Given the description of an element on the screen output the (x, y) to click on. 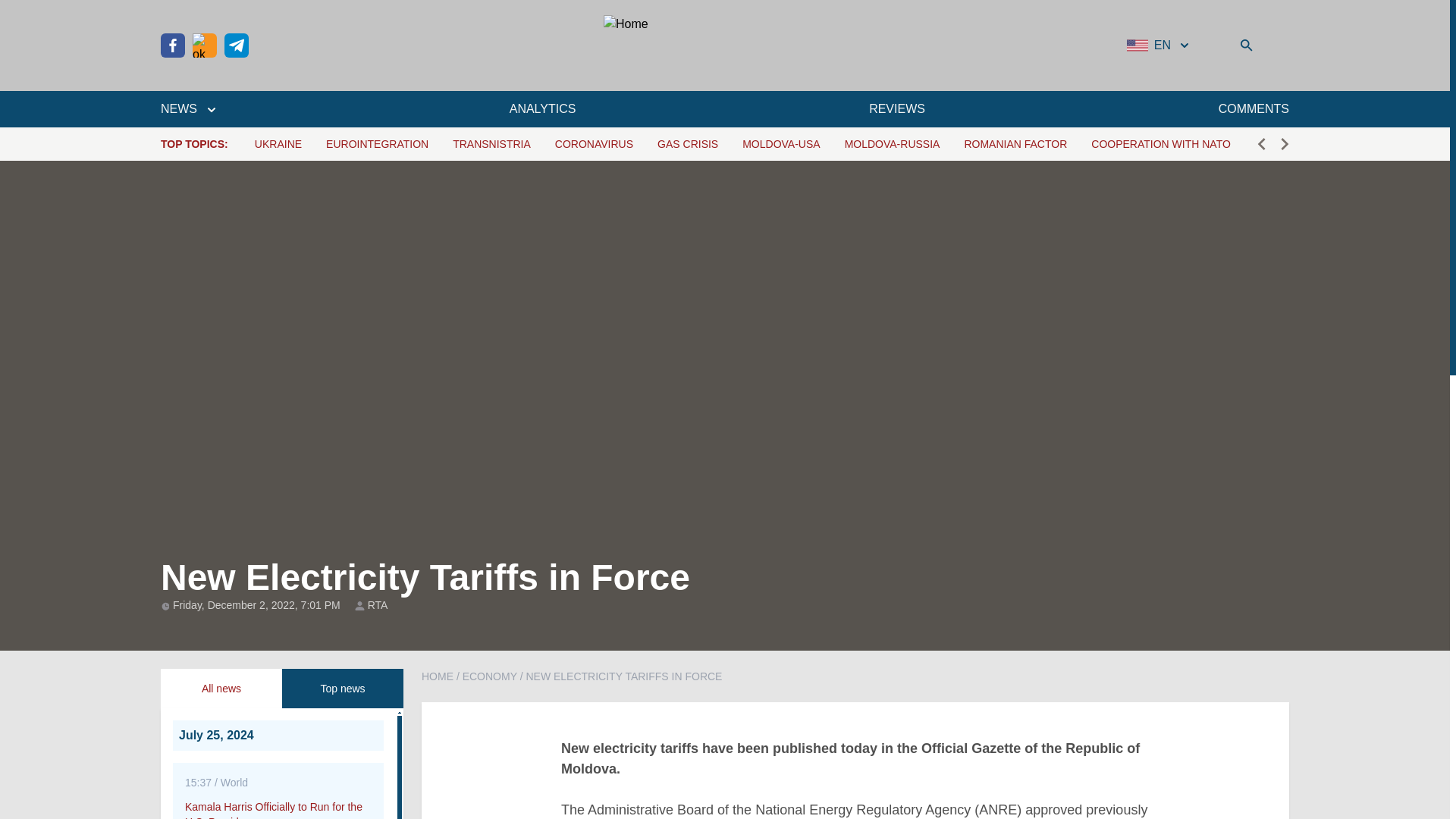
ROMANIAN FACTOR (1015, 143)
MOLDOVA-USA (780, 143)
ANALYTICS (542, 108)
All news (221, 688)
REVIEWS (896, 108)
TRANSNISTRIA (491, 143)
UKRAINE (277, 143)
RTA (378, 604)
CORONAVIRUS (593, 143)
EN (1159, 45)
COMMENTS (1253, 108)
MOLDOVA-RUSSIA (892, 143)
Top news (342, 688)
GAS CRISIS (687, 143)
